Given the description of an element on the screen output the (x, y) to click on. 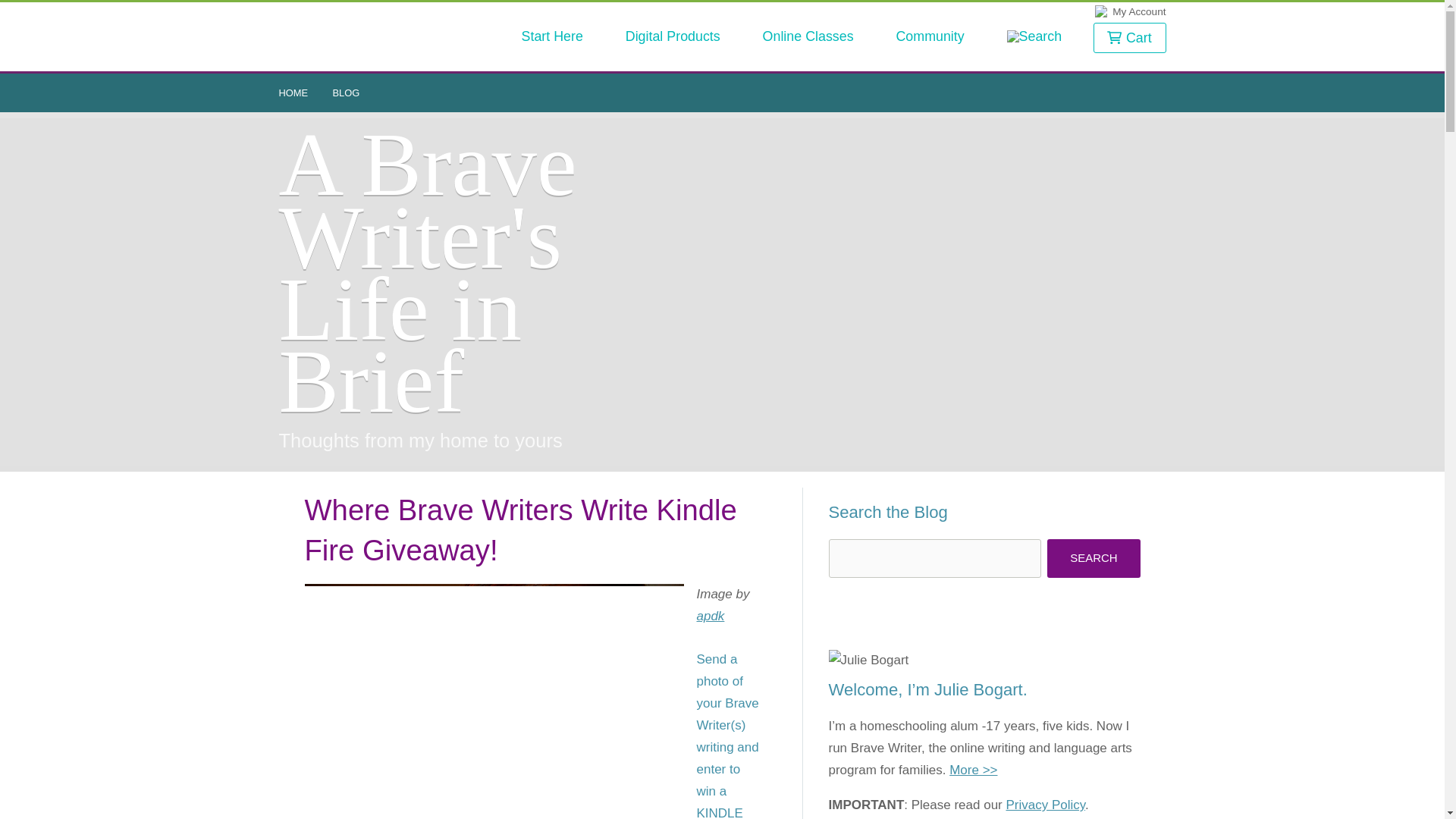
Search (1093, 558)
